Given the description of an element on the screen output the (x, y) to click on. 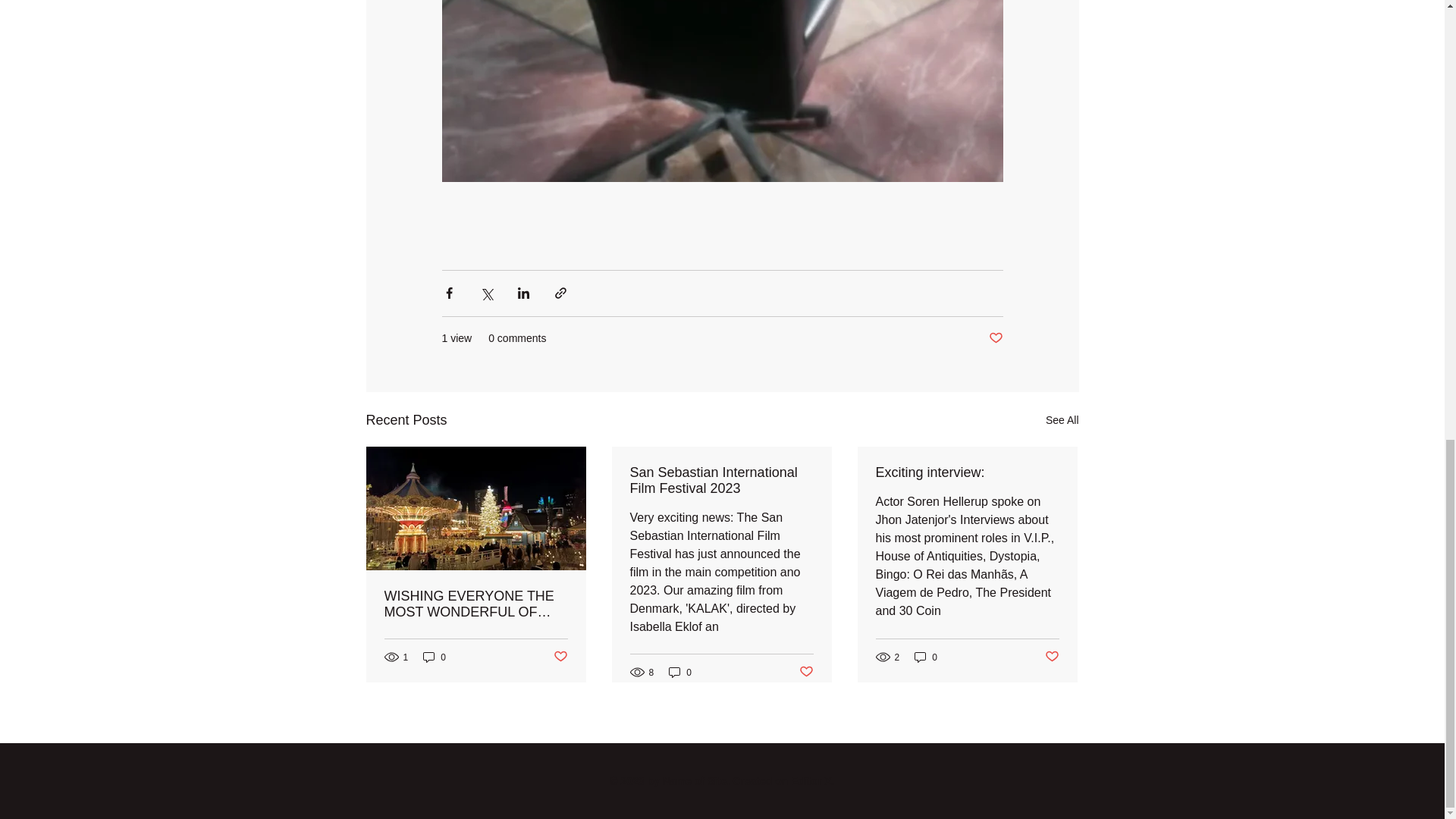
San Sebastian International Film Festival 2023 (720, 480)
0 (925, 657)
Post not marked as liked (995, 338)
Exciting interview: (966, 472)
Editor X. (812, 780)
Post not marked as liked (1052, 657)
See All (1061, 420)
0 (434, 657)
0 (679, 672)
